Given the description of an element on the screen output the (x, y) to click on. 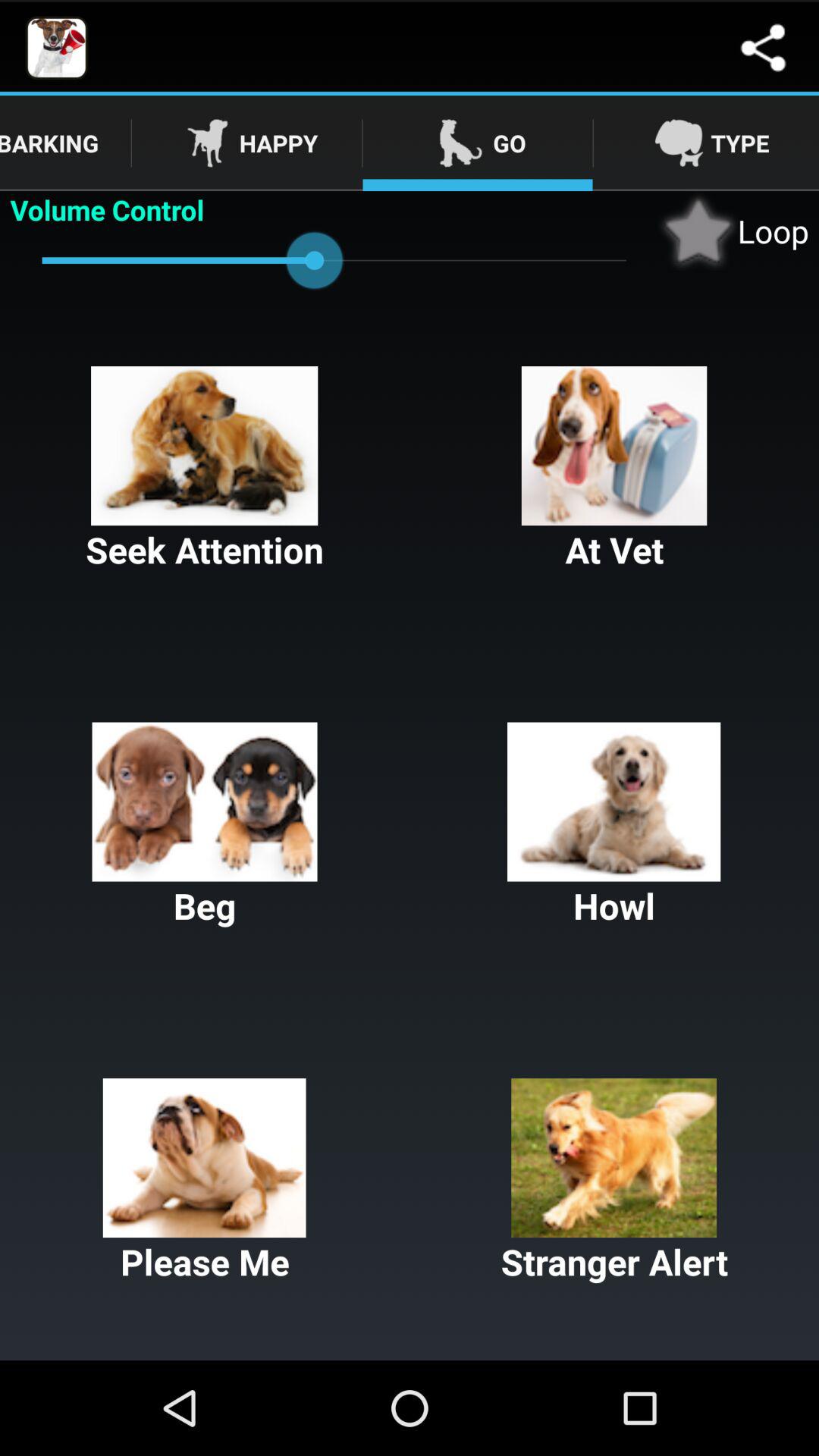
launch button on the right (614, 825)
